Given the description of an element on the screen output the (x, y) to click on. 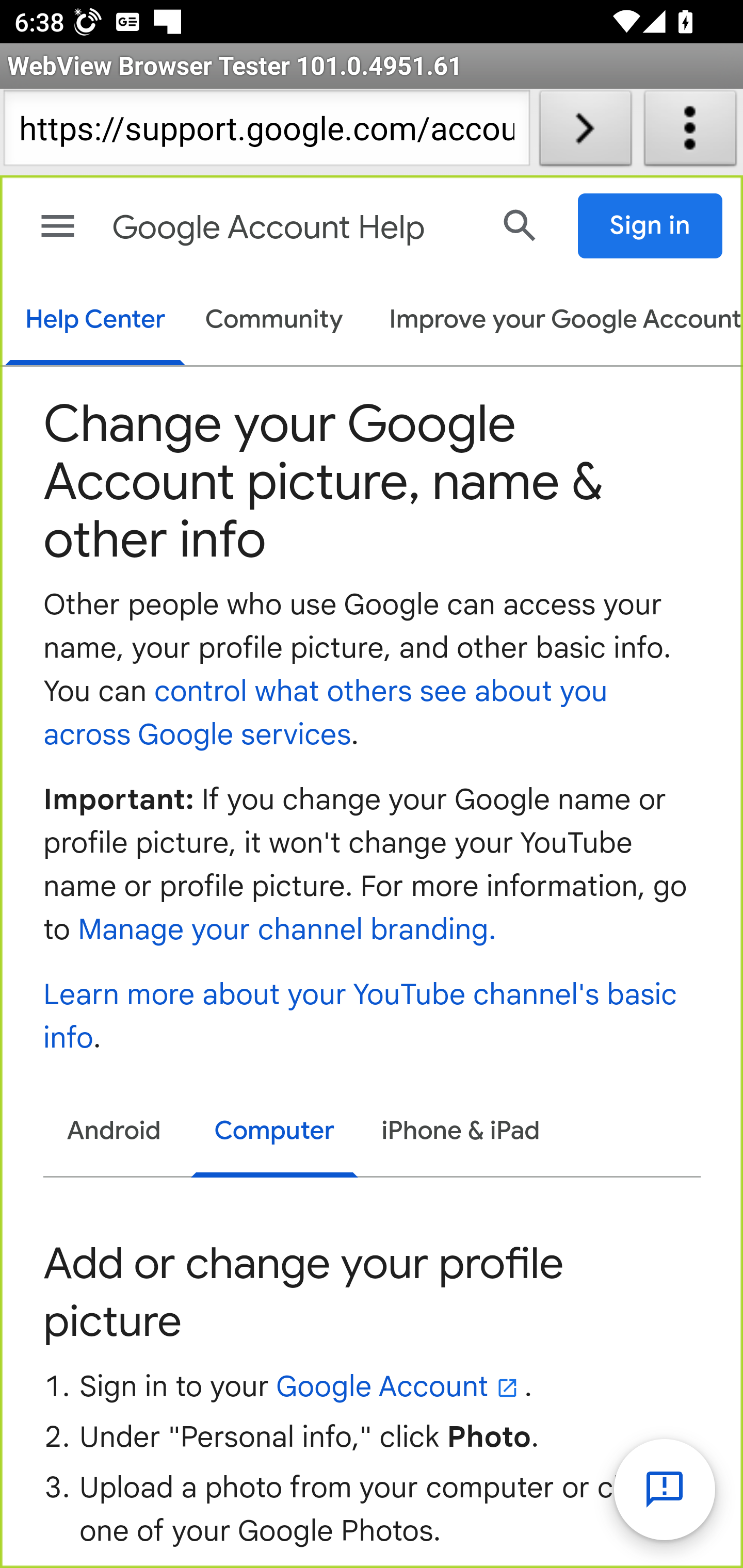
Load URL (585, 132)
About WebView (690, 132)
Main menu (58, 226)
Google Account Help (292, 227)
Search Help Center (519, 225)
Sign in (650, 226)
Help Center (94, 320)
Community (274, 320)
Improve your Google Account (555, 320)
Manage your channel branding. (285, 931)
Learn more about your YouTube channel's basic info (361, 1017)
Android (114, 1132)
Computer (273, 1133)
iPhone & iPad (460, 1132)
Google Account (399, 1386)
